Given the description of an element on the screen output the (x, y) to click on. 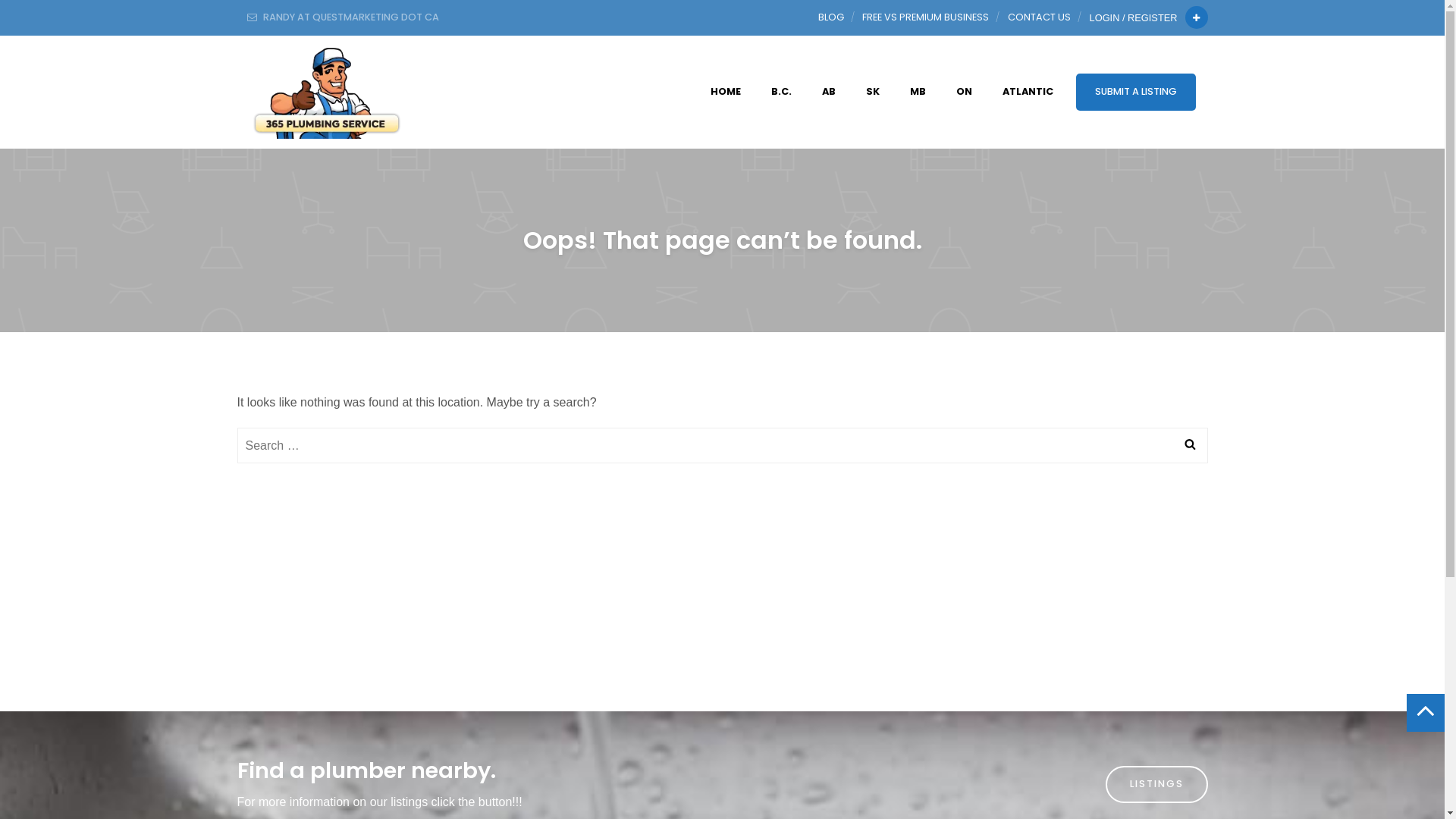
RANDY AT QUESTMARKETING DOT CA Element type: text (342, 17)
LOGIN / REGISTER Element type: text (1135, 17)
MB Element type: text (917, 91)
AB Element type: text (828, 91)
BLOG Element type: text (831, 17)
B.C. Element type: text (780, 91)
LISTINGS Element type: text (1156, 783)
SK Element type: text (872, 91)
CONTACT US Element type: text (1038, 17)
SUBMIT A LISTING Element type: text (1135, 91)
HOME Element type: text (724, 91)
ON Element type: text (963, 91)
FREE VS PREMIUM BUSINESS Element type: text (925, 17)
ATLANTIC Element type: text (1027, 91)
